Given the description of an element on the screen output the (x, y) to click on. 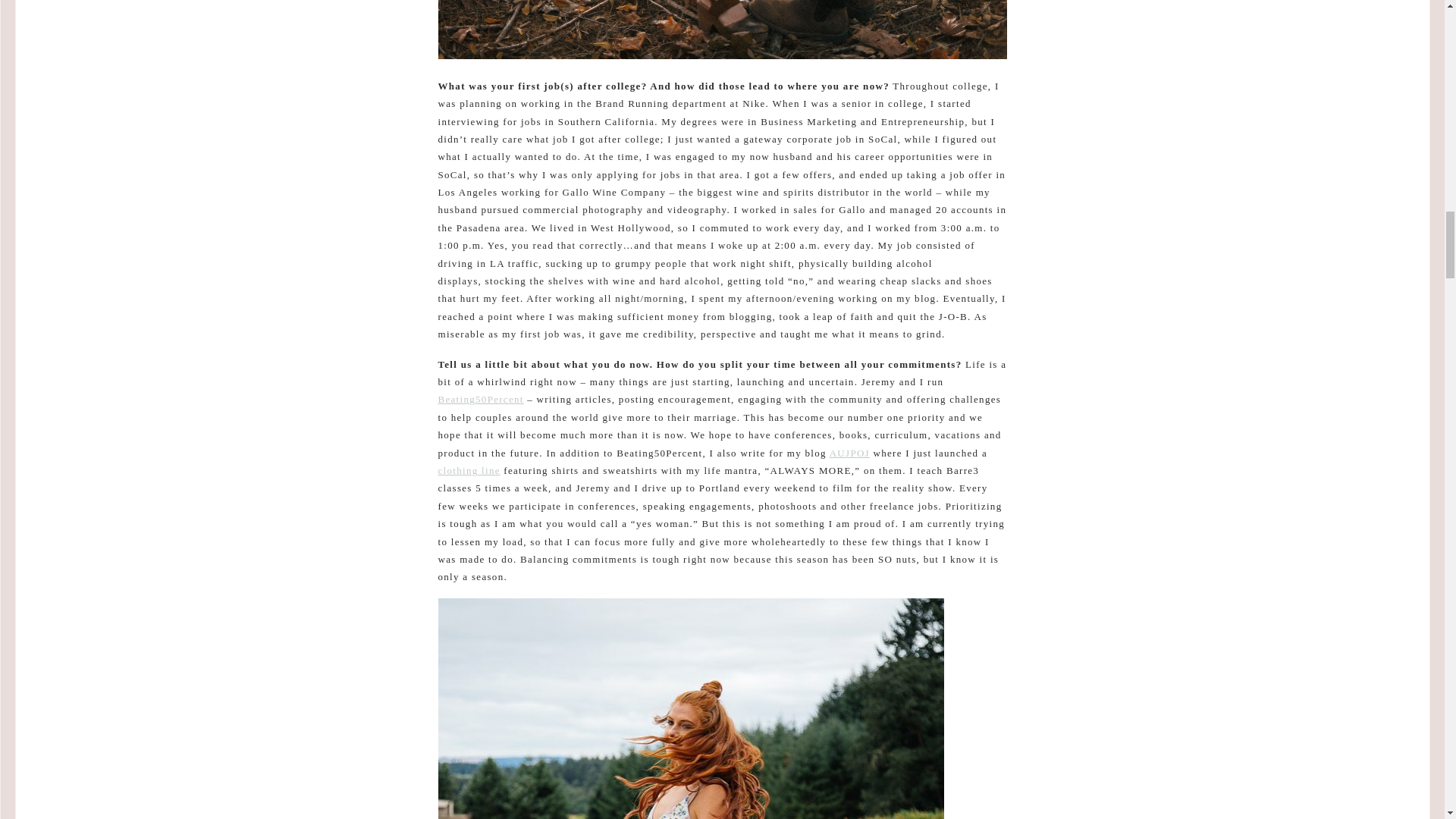
Beating50Percent (481, 398)
clothing line (469, 470)
AUJPOJ (849, 452)
